Given the description of an element on the screen output the (x, y) to click on. 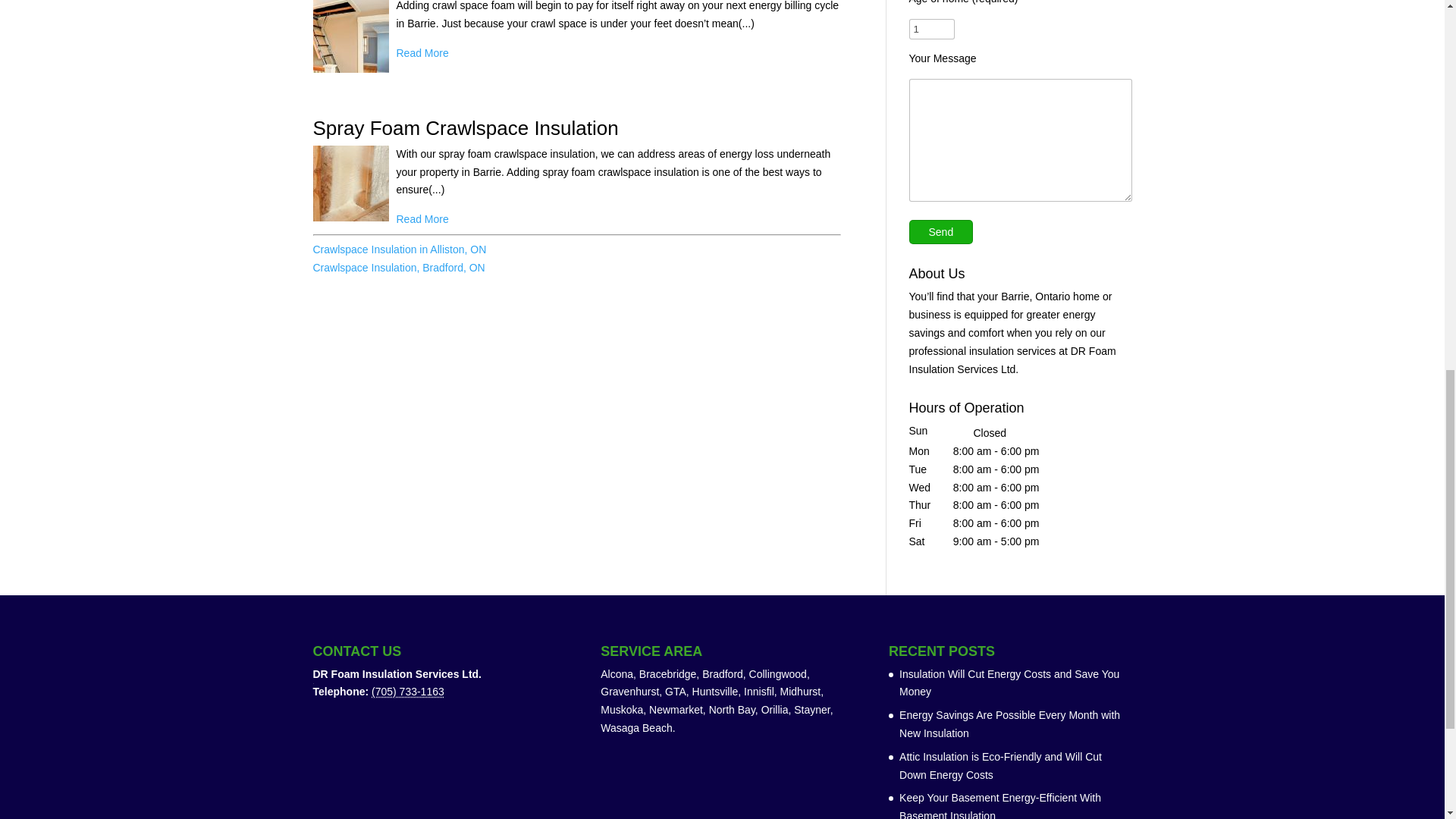
1 (930, 28)
Spray Foam Crawlspace Insulation, Barrie, ON (350, 186)
Send (940, 232)
More About Crawl Space Foam (422, 54)
Crawl Space Foam, Barrie, ON (350, 39)
More About Spray Foam Crawlspace Insulation (422, 219)
